Given the description of an element on the screen output the (x, y) to click on. 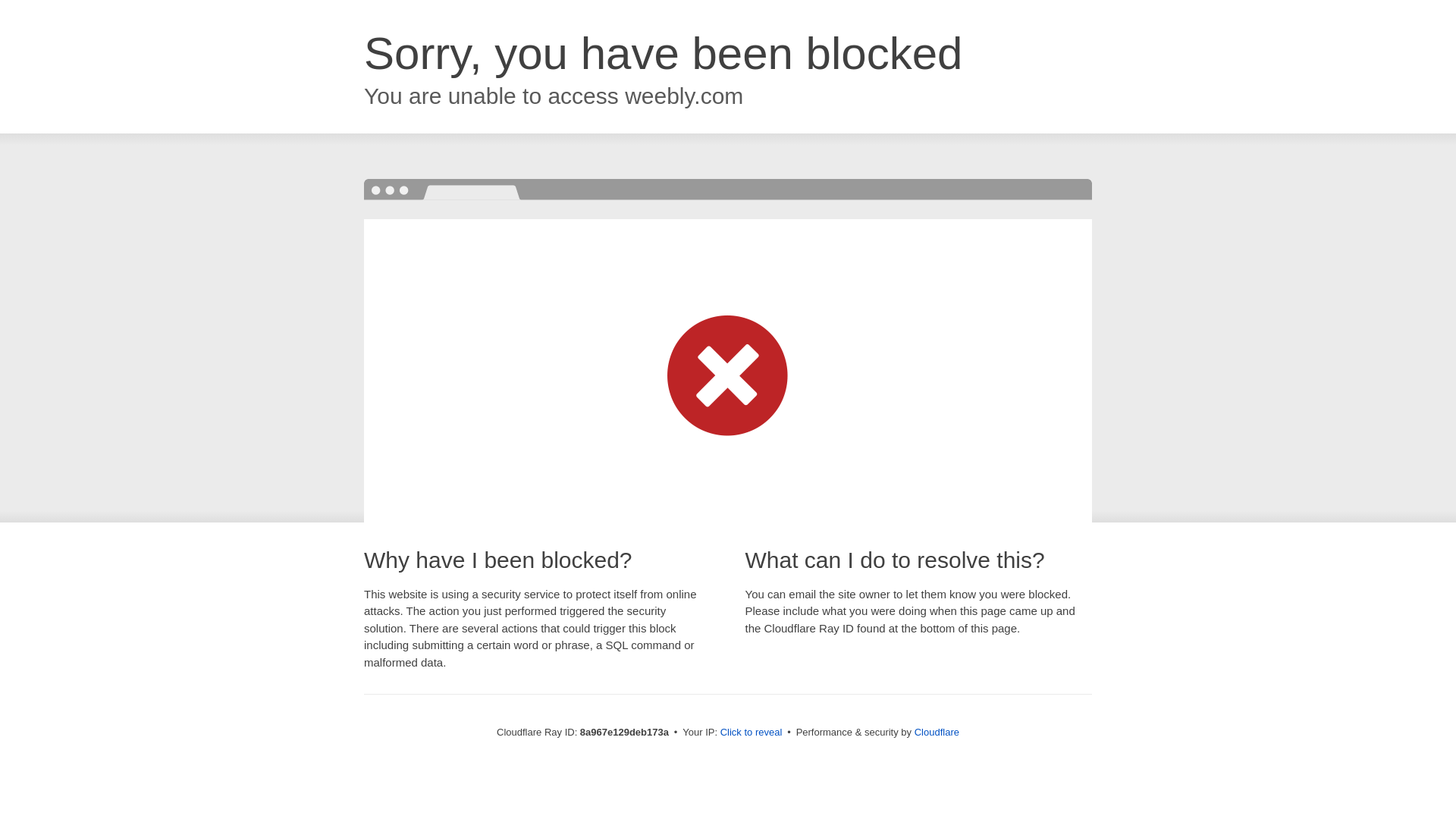
Cloudflare (936, 731)
Click to reveal (751, 732)
